Given the description of an element on the screen output the (x, y) to click on. 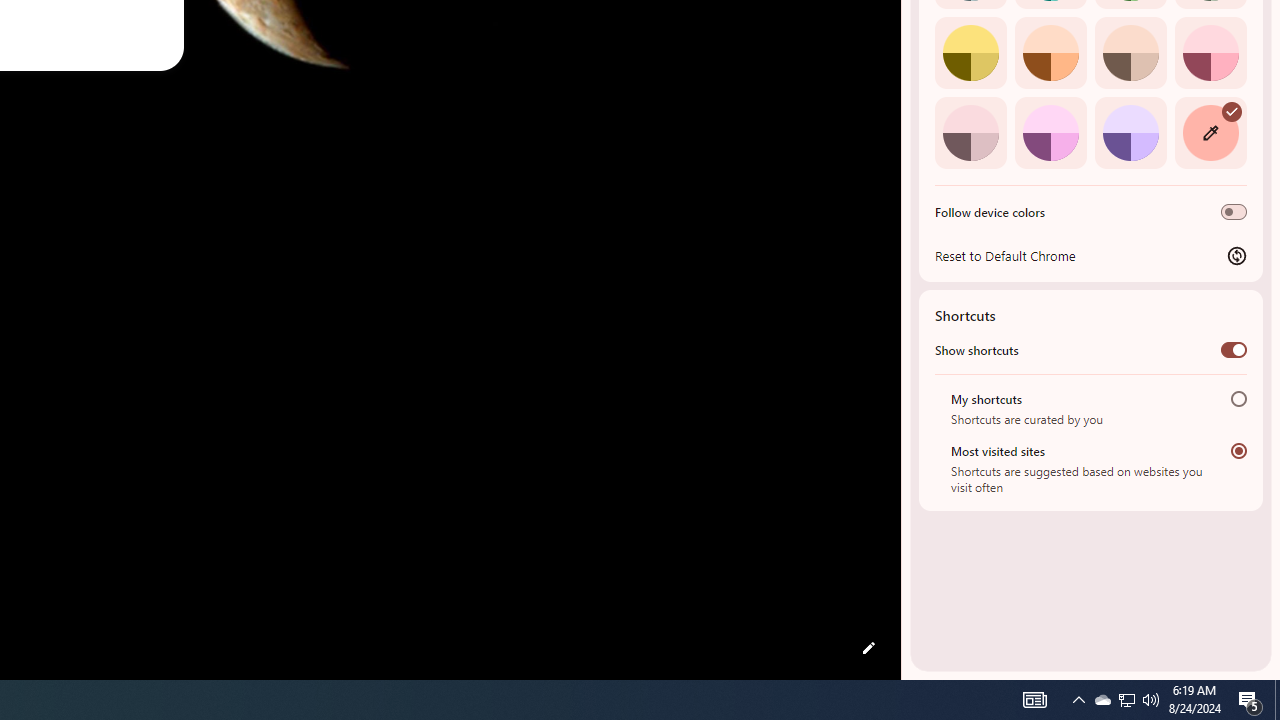
Orange (1050, 52)
Fuchsia (1050, 132)
